Given the description of an element on the screen output the (x, y) to click on. 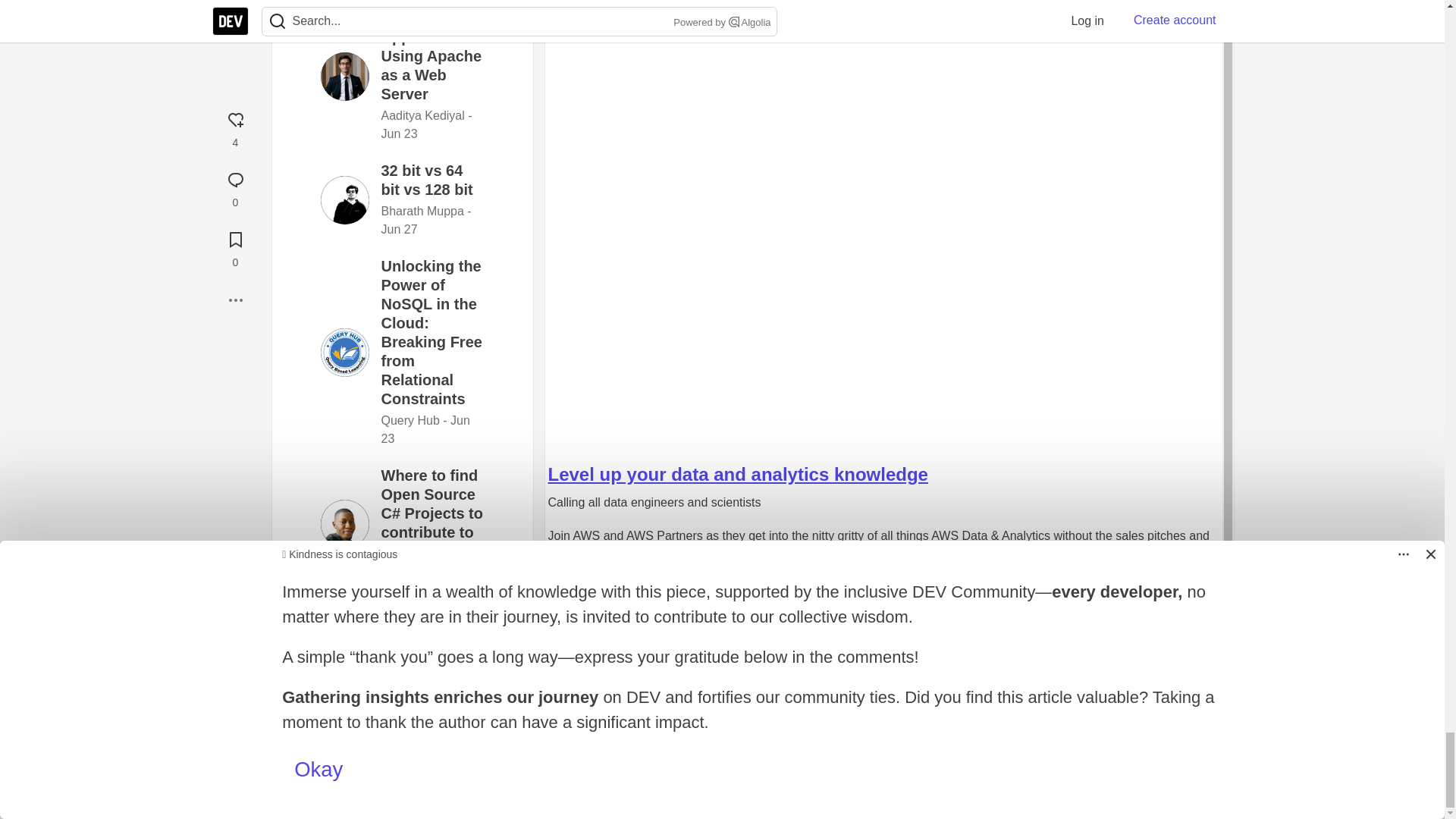
copyright (814, 770)
